Given the description of an element on the screen output the (x, y) to click on. 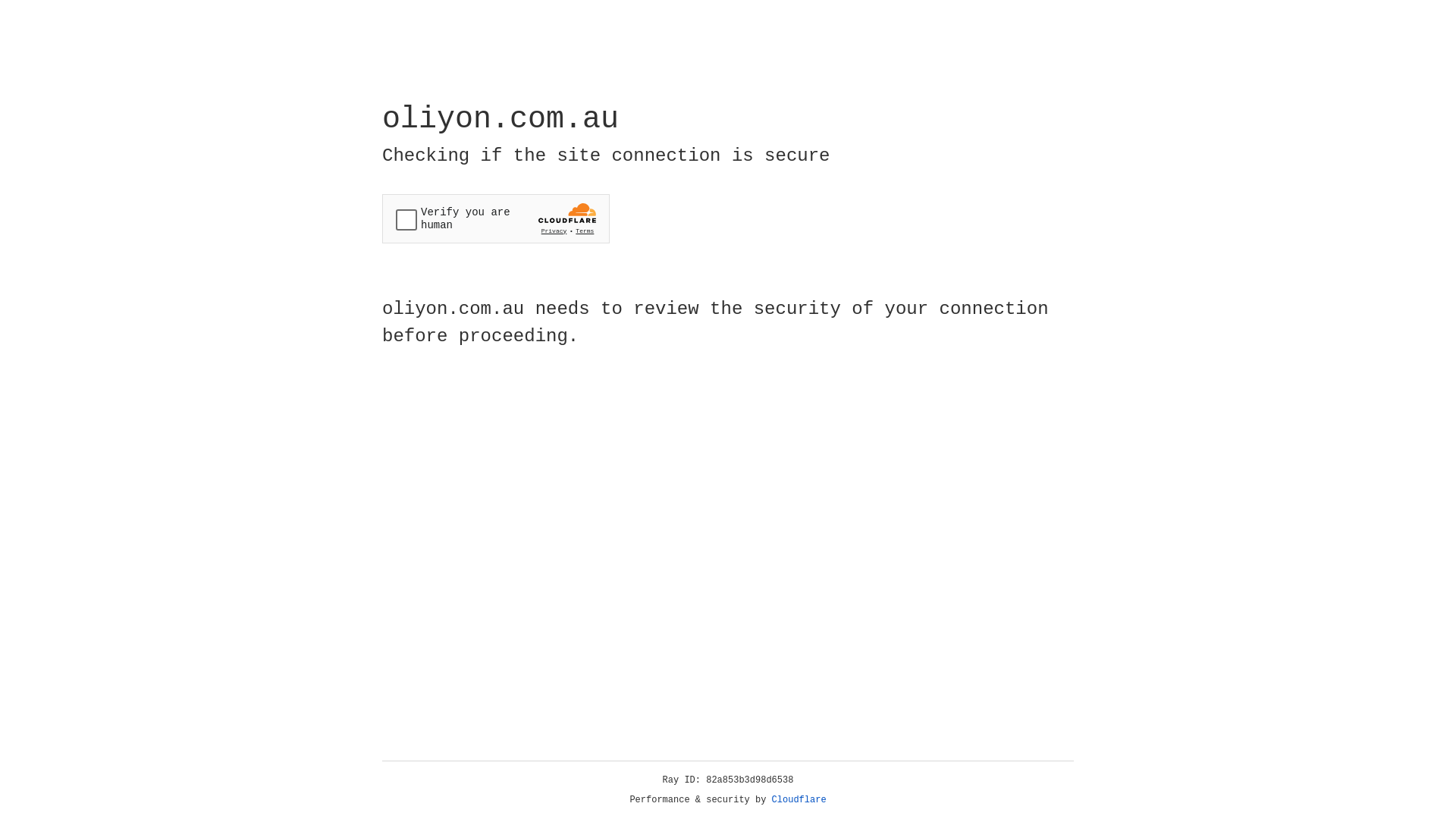
Cloudflare Element type: text (798, 799)
Widget containing a Cloudflare security challenge Element type: hover (495, 218)
